Given the description of an element on the screen output the (x, y) to click on. 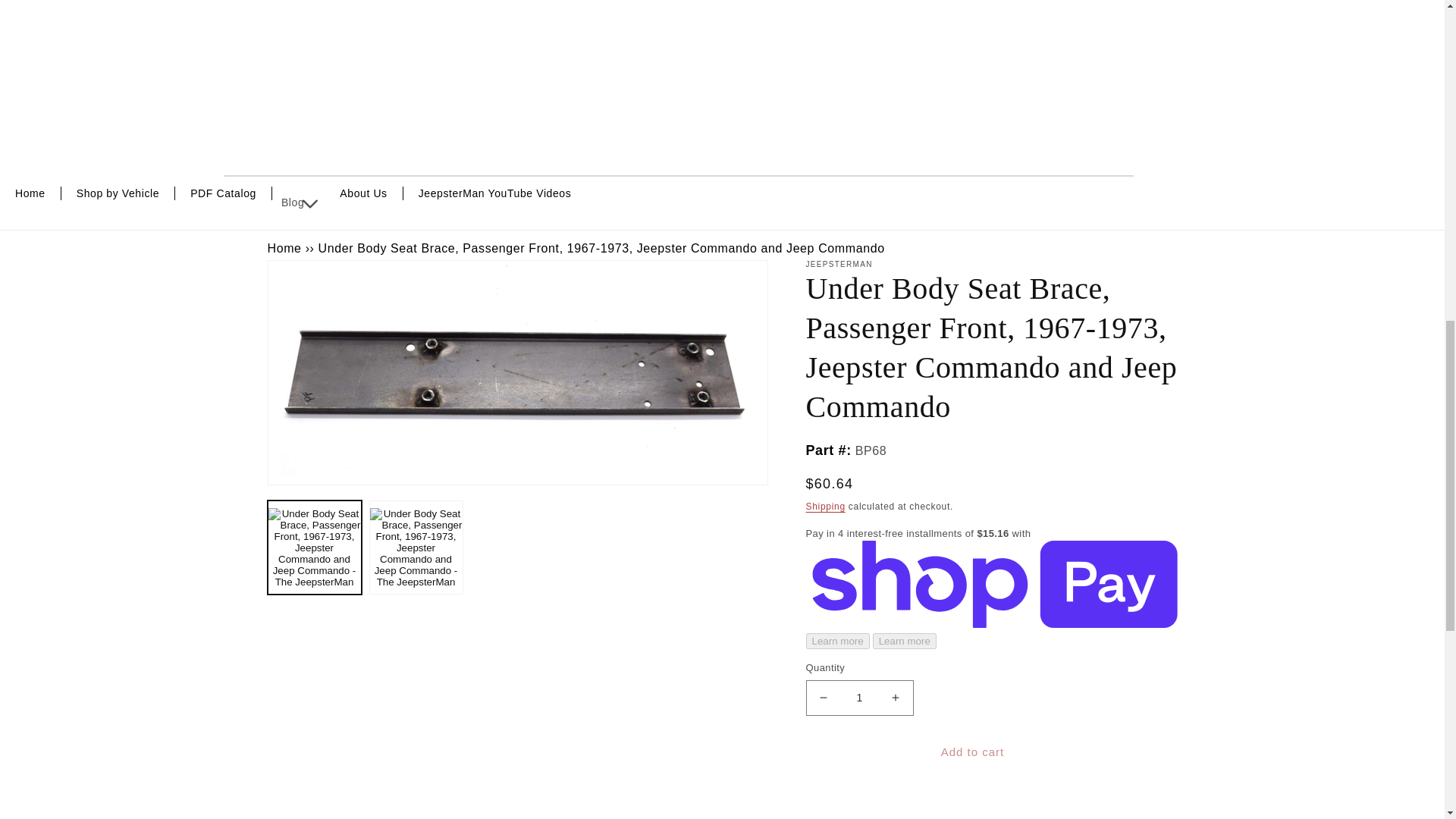
Home (283, 247)
Shop by Vehicle (117, 192)
PDF Catalog (223, 192)
Home (30, 192)
JeepsterMan YouTube Videos (494, 192)
1 (858, 697)
About Us (363, 192)
